Given the description of an element on the screen output the (x, y) to click on. 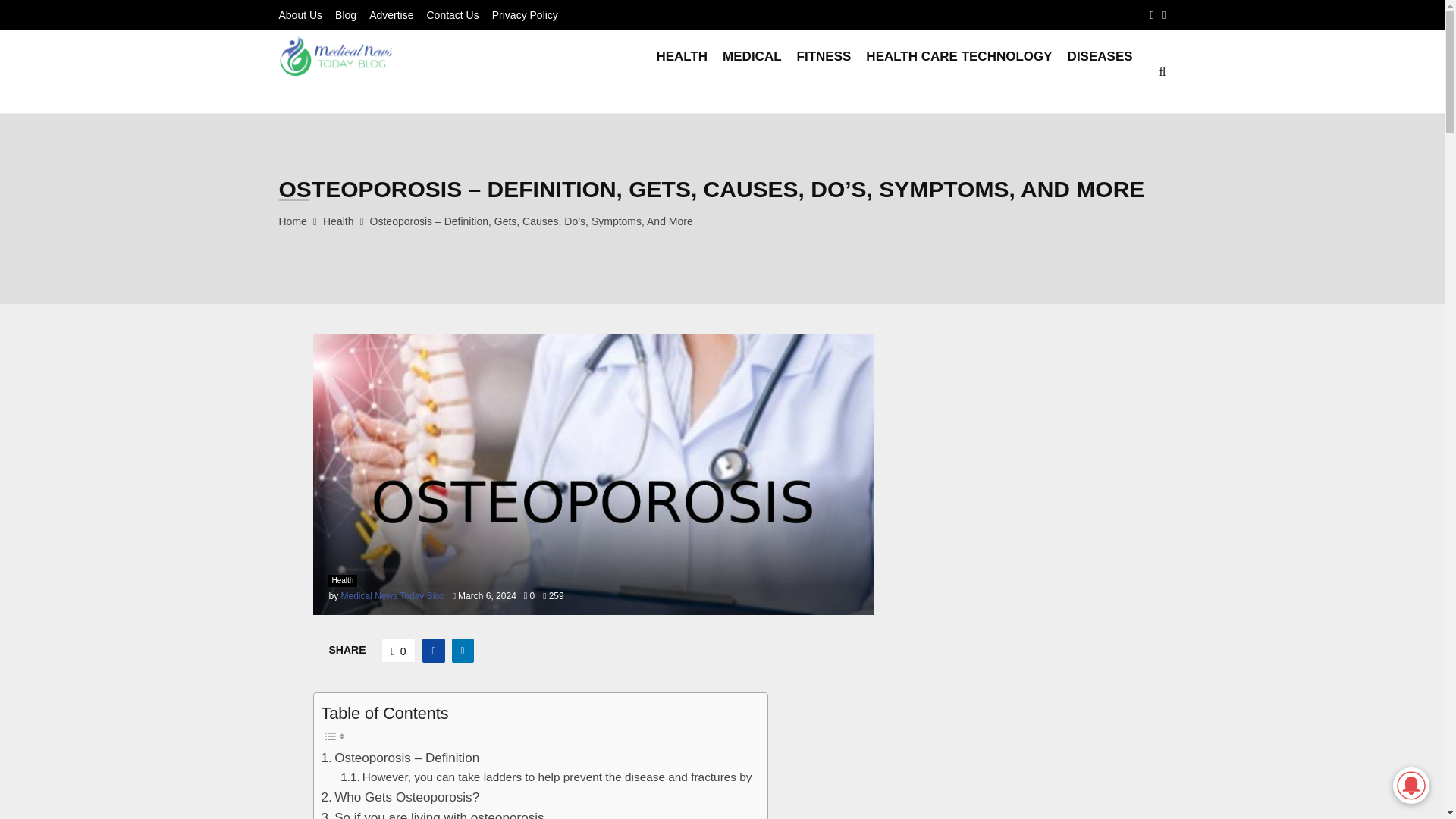
Health (341, 580)
Like (398, 650)
Medical News Today Blog (392, 595)
0 (529, 595)
Who Gets Osteoporosis? (400, 797)
Contact Us (452, 15)
Who Gets Osteoporosis? (400, 797)
Advertise (391, 15)
Privacy Policy (524, 15)
About Us (301, 15)
So if you are living with osteoporosis (432, 813)
Home (293, 221)
Health (338, 221)
So if you are living with osteoporosis (432, 813)
